Given the description of an element on the screen output the (x, y) to click on. 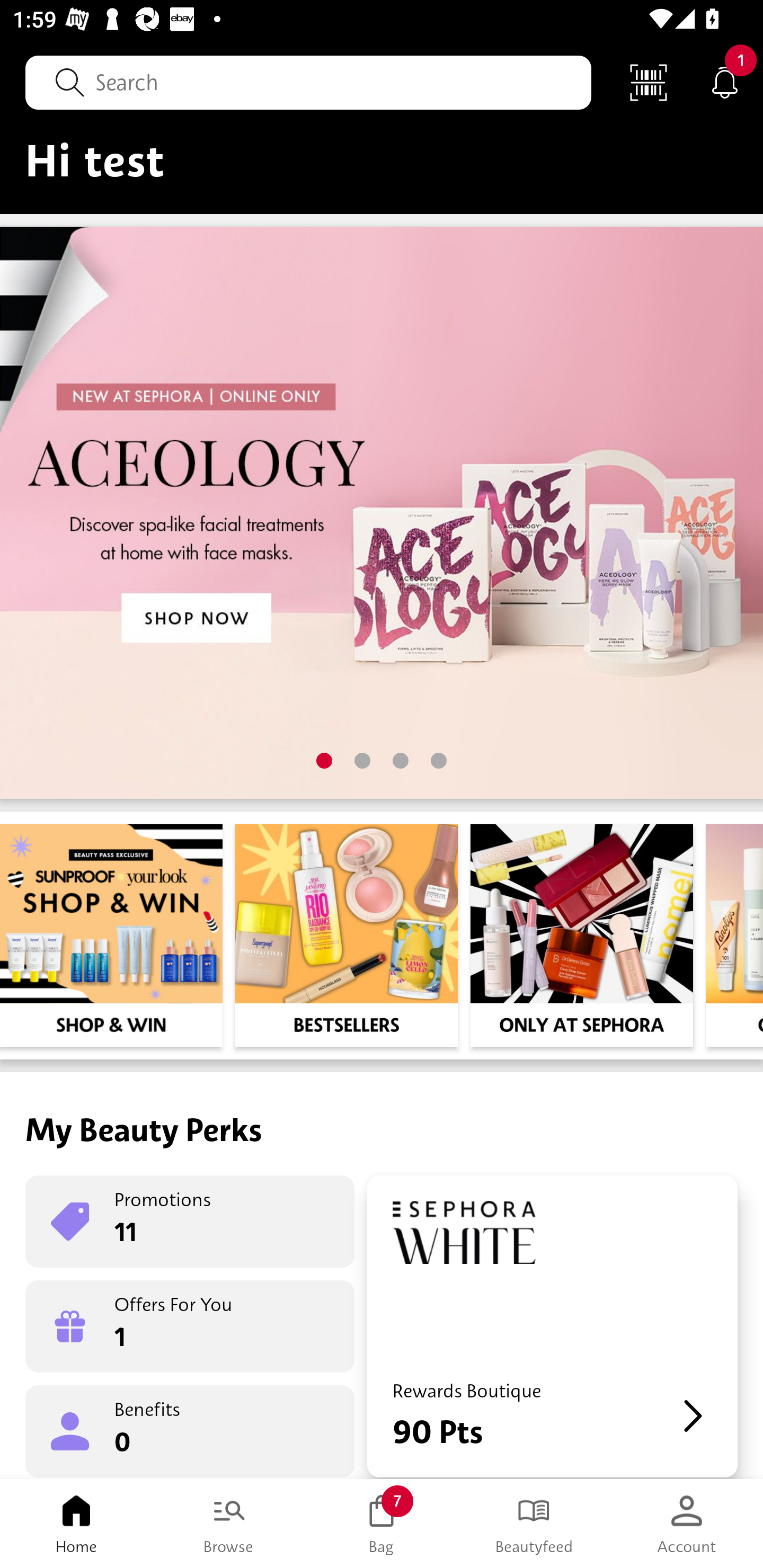
Scan Code (648, 81)
Notifications (724, 81)
Search (308, 81)
Promotions 11 (189, 1221)
Rewards Boutique 90 Pts (552, 1326)
Offers For You 1 (189, 1326)
Benefits 0 (189, 1430)
Browse (228, 1523)
Bag 7 Bag (381, 1523)
Beautyfeed (533, 1523)
Account (686, 1523)
